Given the description of an element on the screen output the (x, y) to click on. 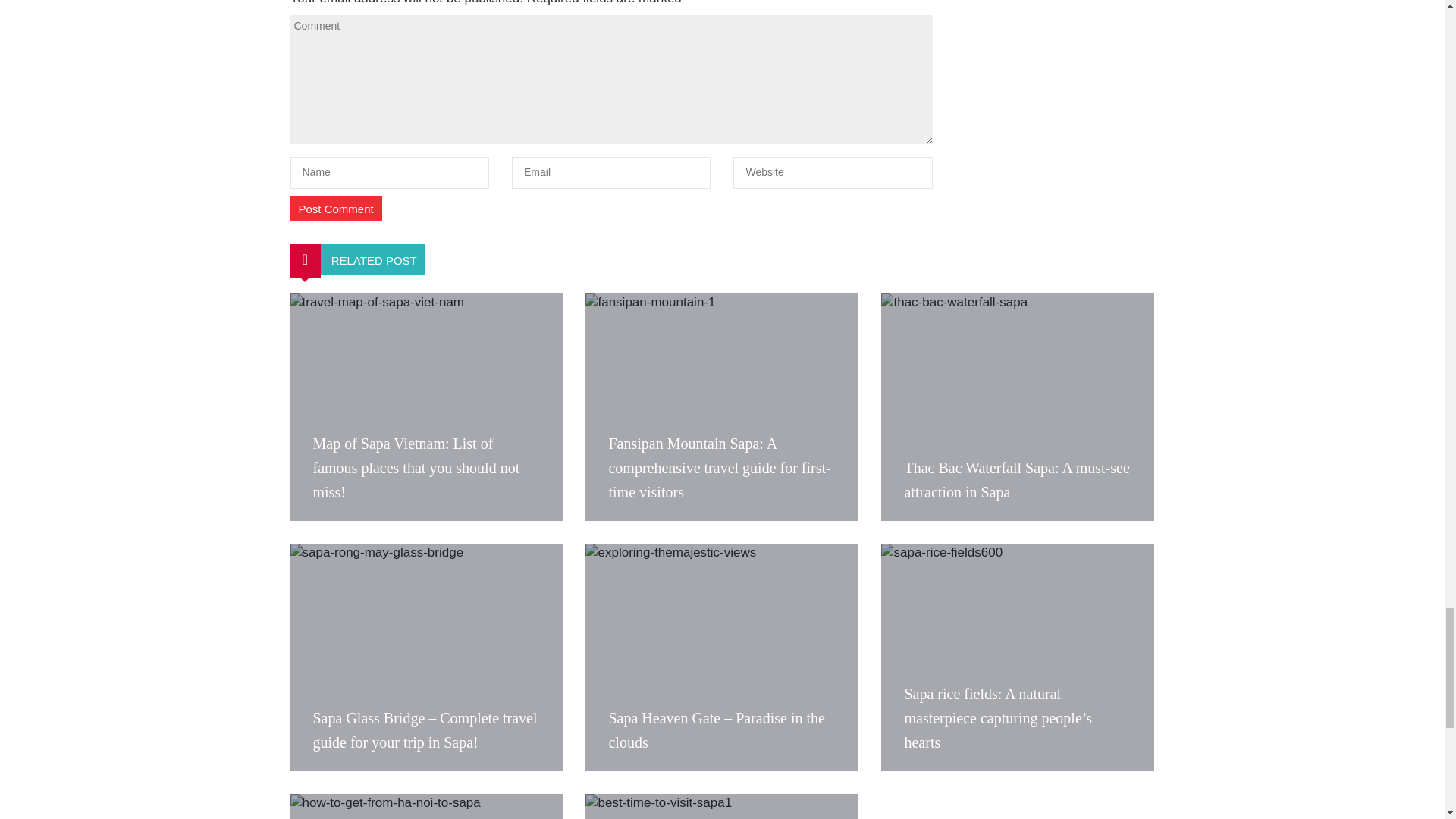
Post Comment (335, 208)
